Given the description of an element on the screen output the (x, y) to click on. 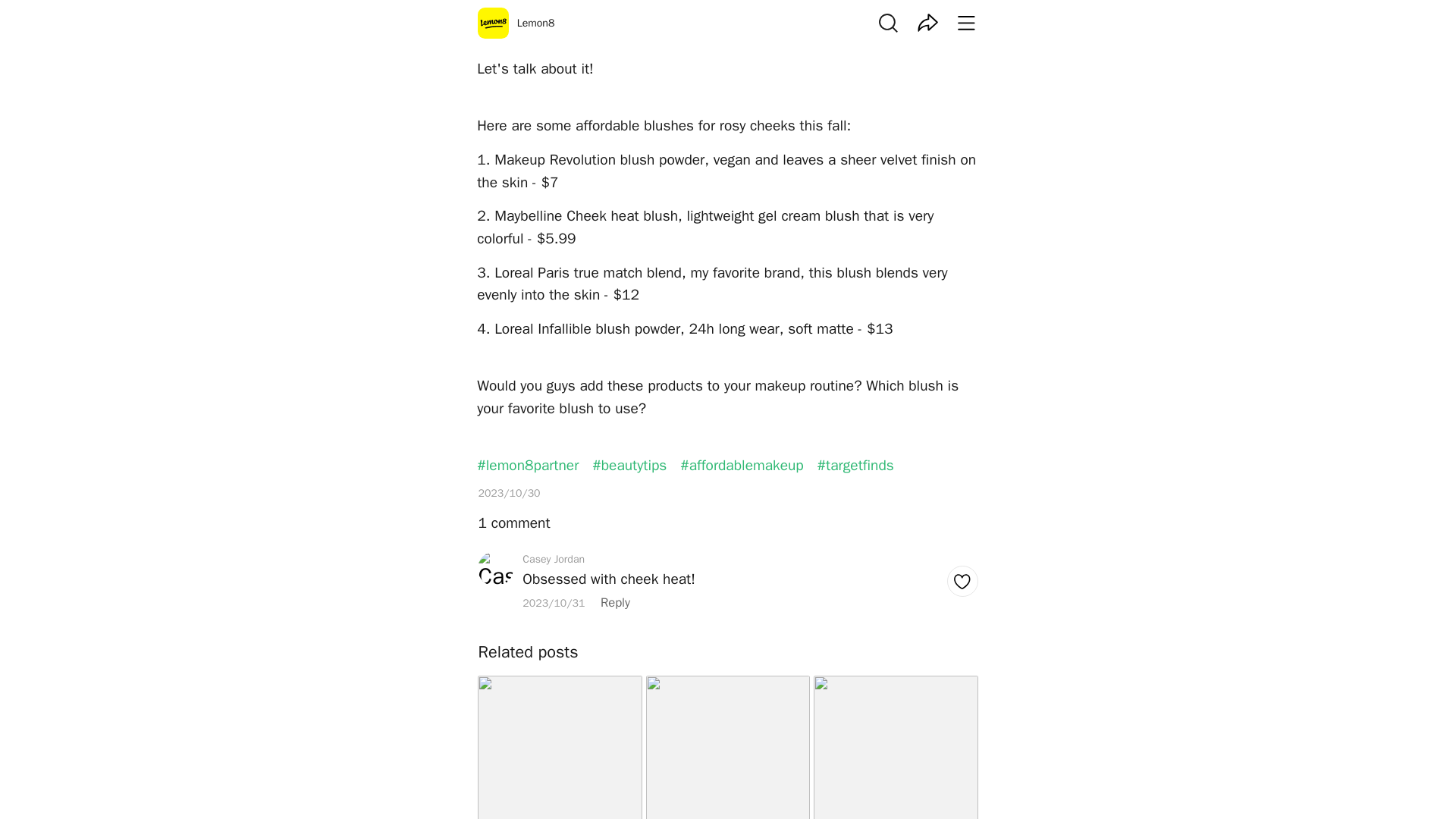
Casey Jordan (727, 300)
